Given the description of an element on the screen output the (x, y) to click on. 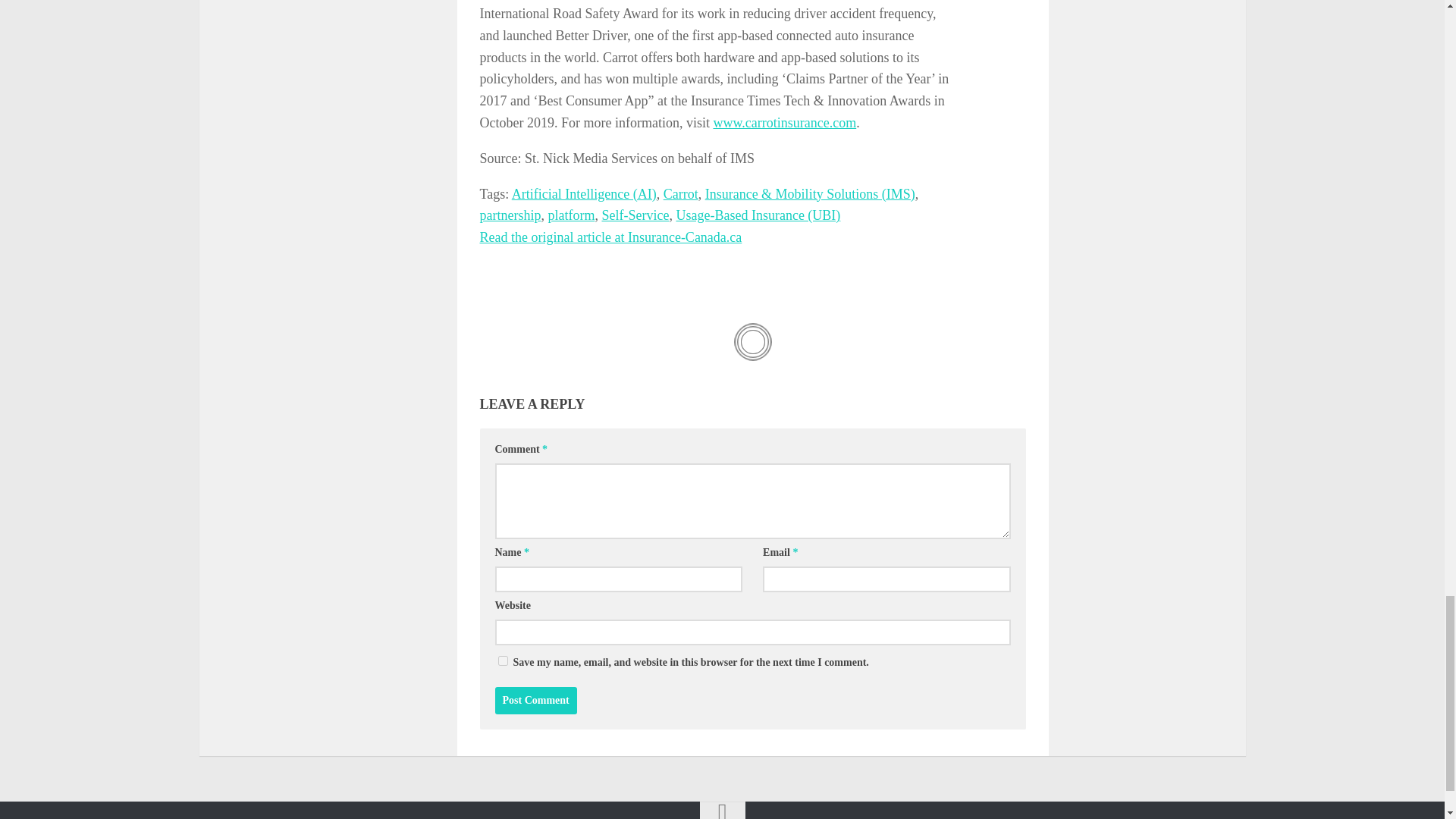
Carrot (680, 193)
platform (570, 215)
yes (501, 660)
Self-Service (634, 215)
Read the original article at Insurance-Canada.ca (610, 237)
www.carrotinsurance.com (784, 122)
Post Comment (535, 700)
partnership (509, 215)
Post Comment (535, 700)
